Given the description of an element on the screen output the (x, y) to click on. 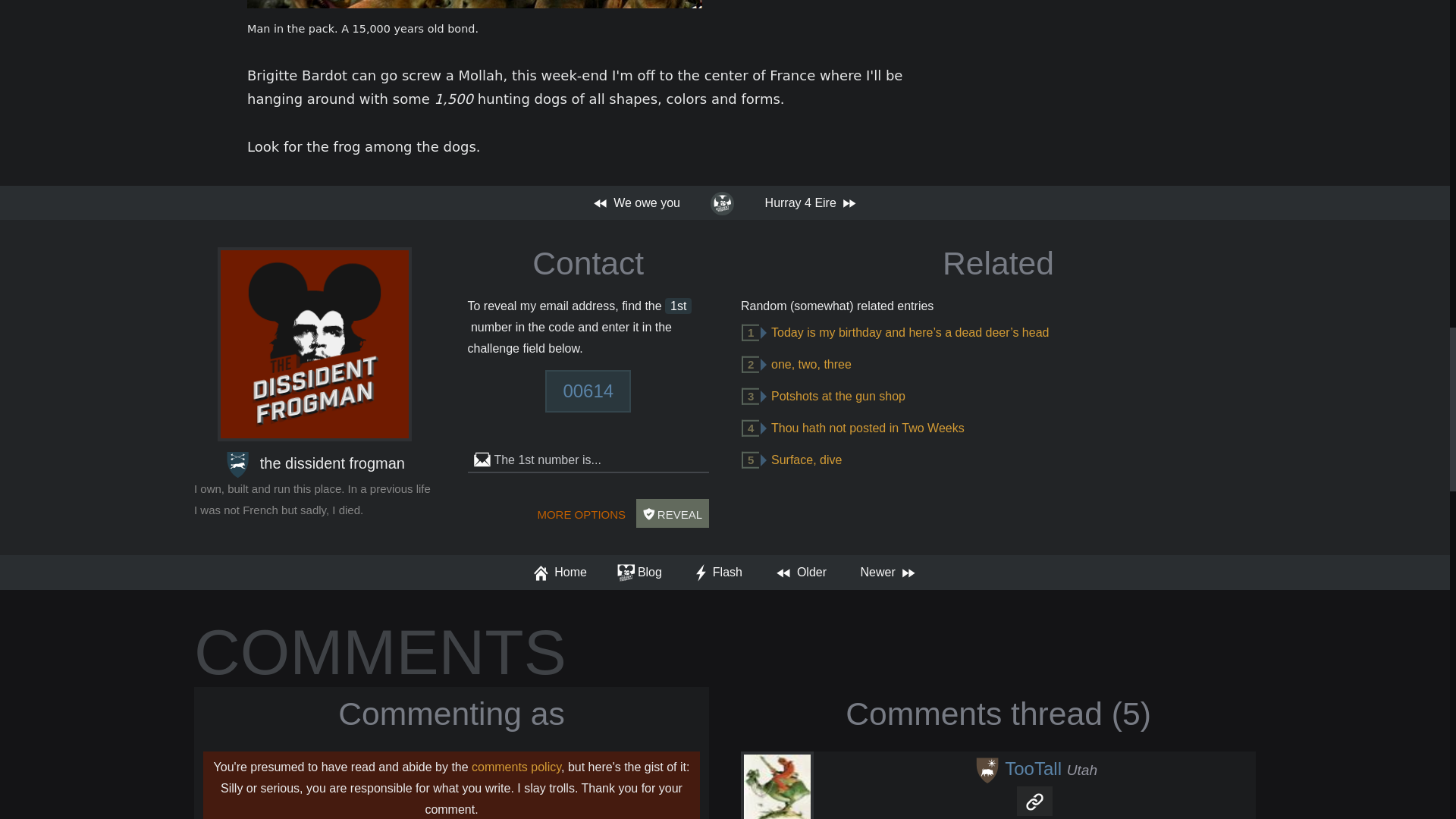
Flash (717, 572)
Permanent link to this comment (1034, 800)
REVEAL (672, 512)
Permanent link to Potshots at the gun shop (838, 395)
We owe you (800, 572)
MORE OPTIONS (580, 512)
Thou hath not posted in Two Weeks (867, 427)
Next entry (810, 202)
Permanent link to Surface, dive (806, 459)
Blog (639, 572)
Hurray 4 Eire (887, 572)
Surface, dive (806, 459)
Blogposts index (721, 202)
Hurray 4 Eire (810, 202)
Previous entry (636, 202)
